Given the description of an element on the screen output the (x, y) to click on. 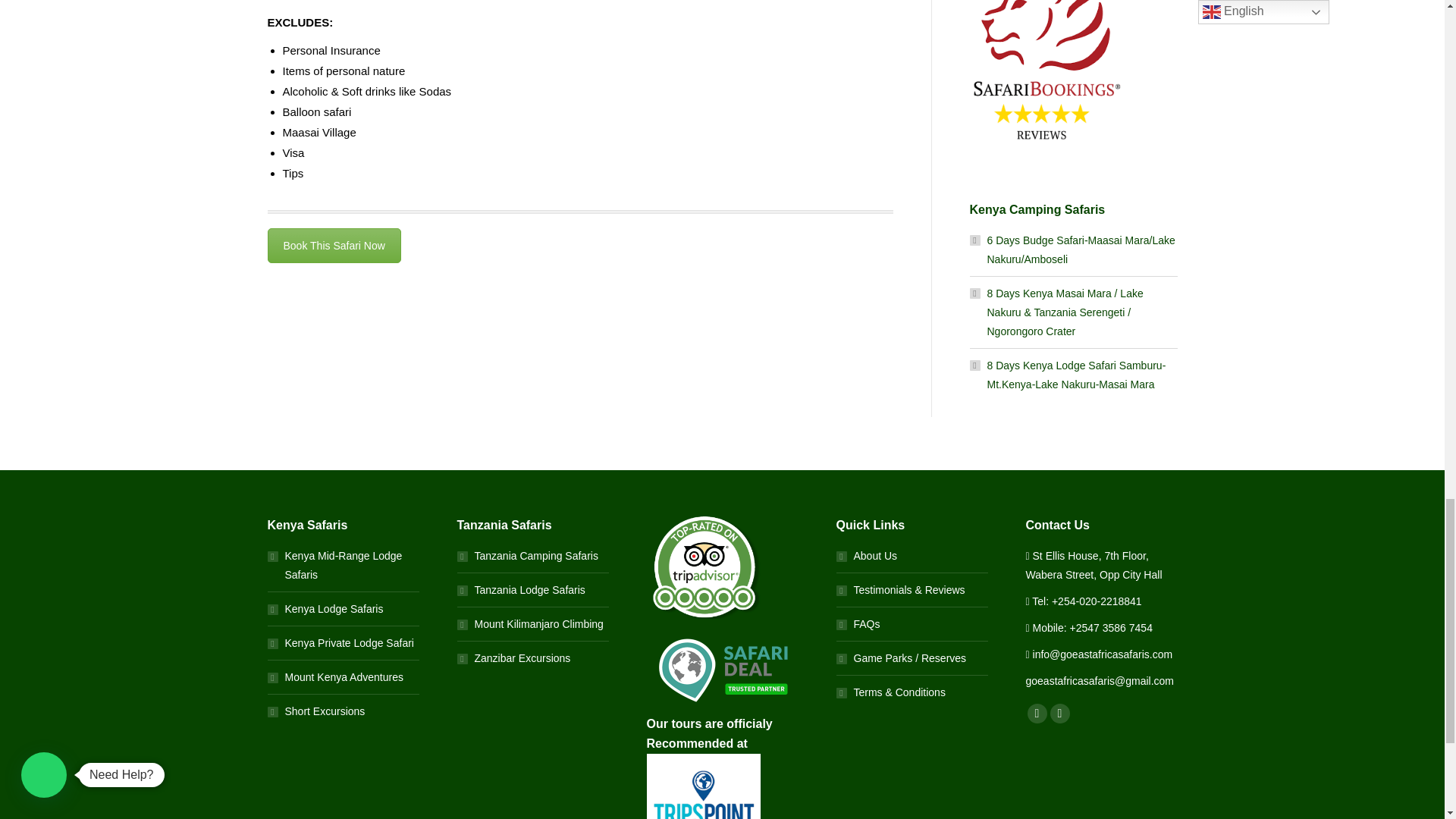
Facebook (1036, 713)
Linkedin (1058, 713)
